Given the description of an element on the screen output the (x, y) to click on. 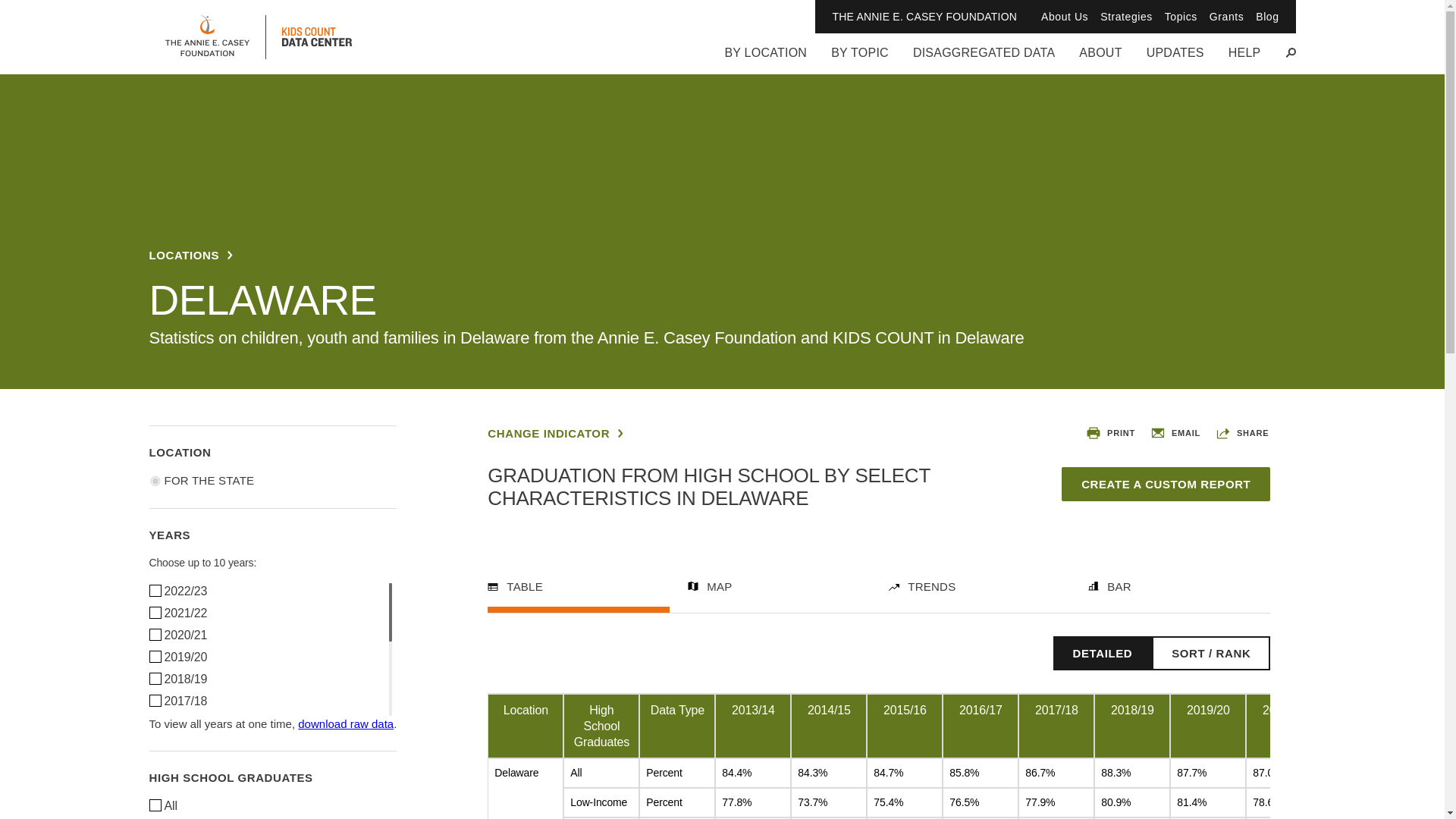
Strategies (1126, 16)
7986 (154, 805)
HELP (1244, 59)
1750 (154, 677)
2029 (154, 633)
Blog (1266, 16)
LOCATIONS (190, 254)
Grants (1226, 16)
2523 (154, 589)
